Given the description of an element on the screen output the (x, y) to click on. 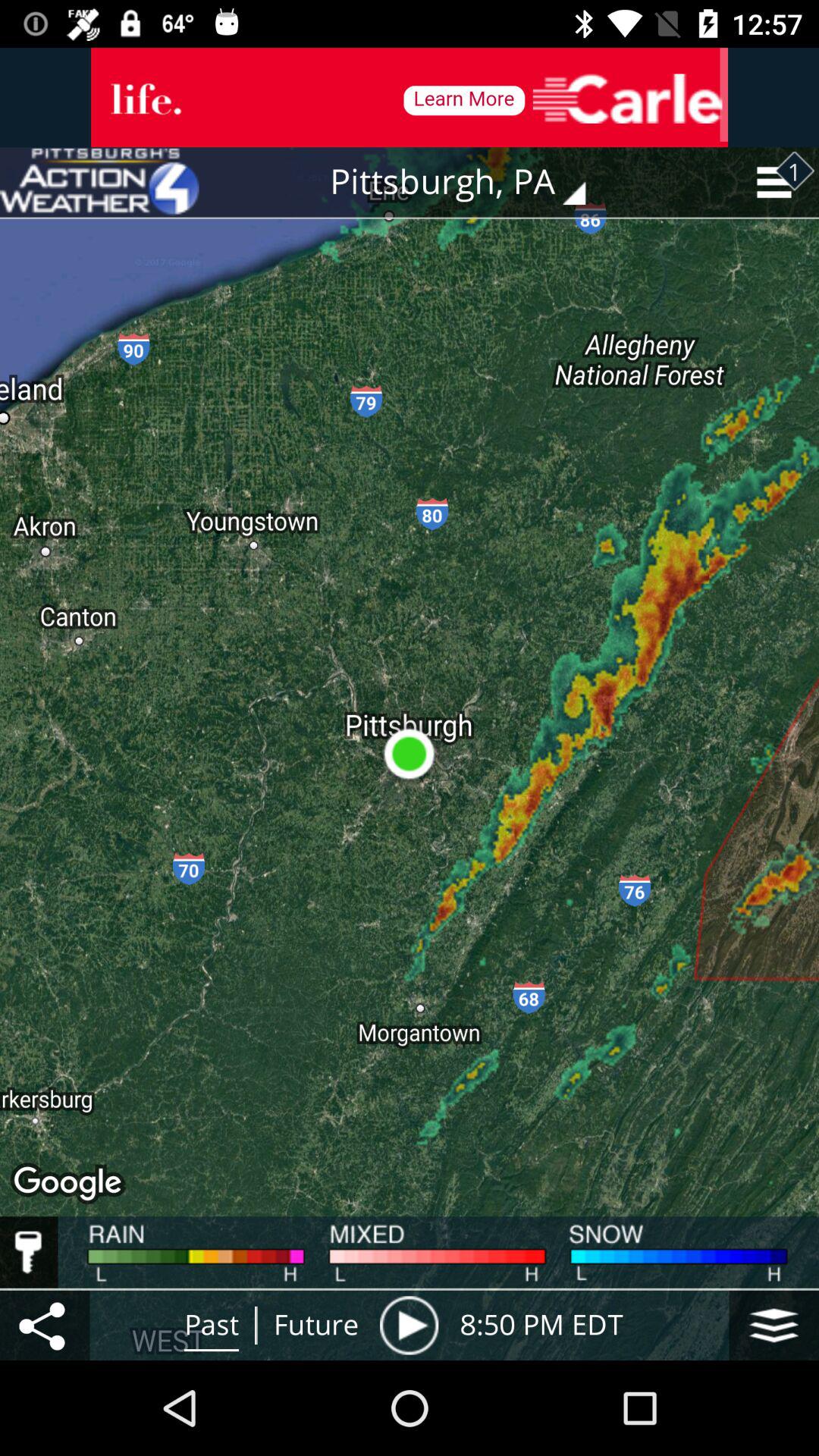
press play (409, 1325)
